Given the description of an element on the screen output the (x, y) to click on. 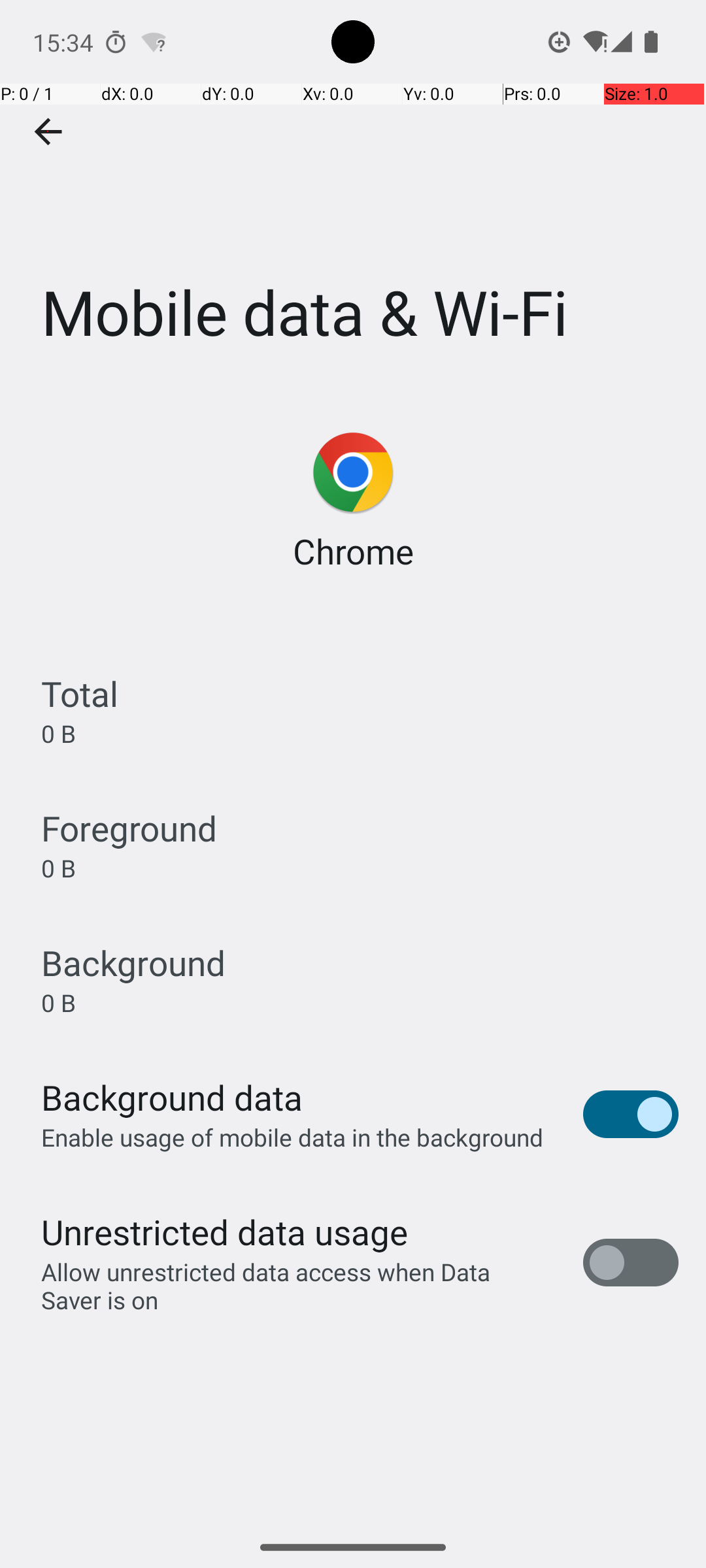
Background data Element type: android.widget.TextView (171, 1097)
Enable usage of mobile data in the background Element type: android.widget.TextView (292, 1136)
Unrestricted data usage Element type: android.widget.TextView (224, 1231)
Allow unrestricted data access when Data Saver is on Element type: android.widget.TextView (298, 1285)
